Given the description of an element on the screen output the (x, y) to click on. 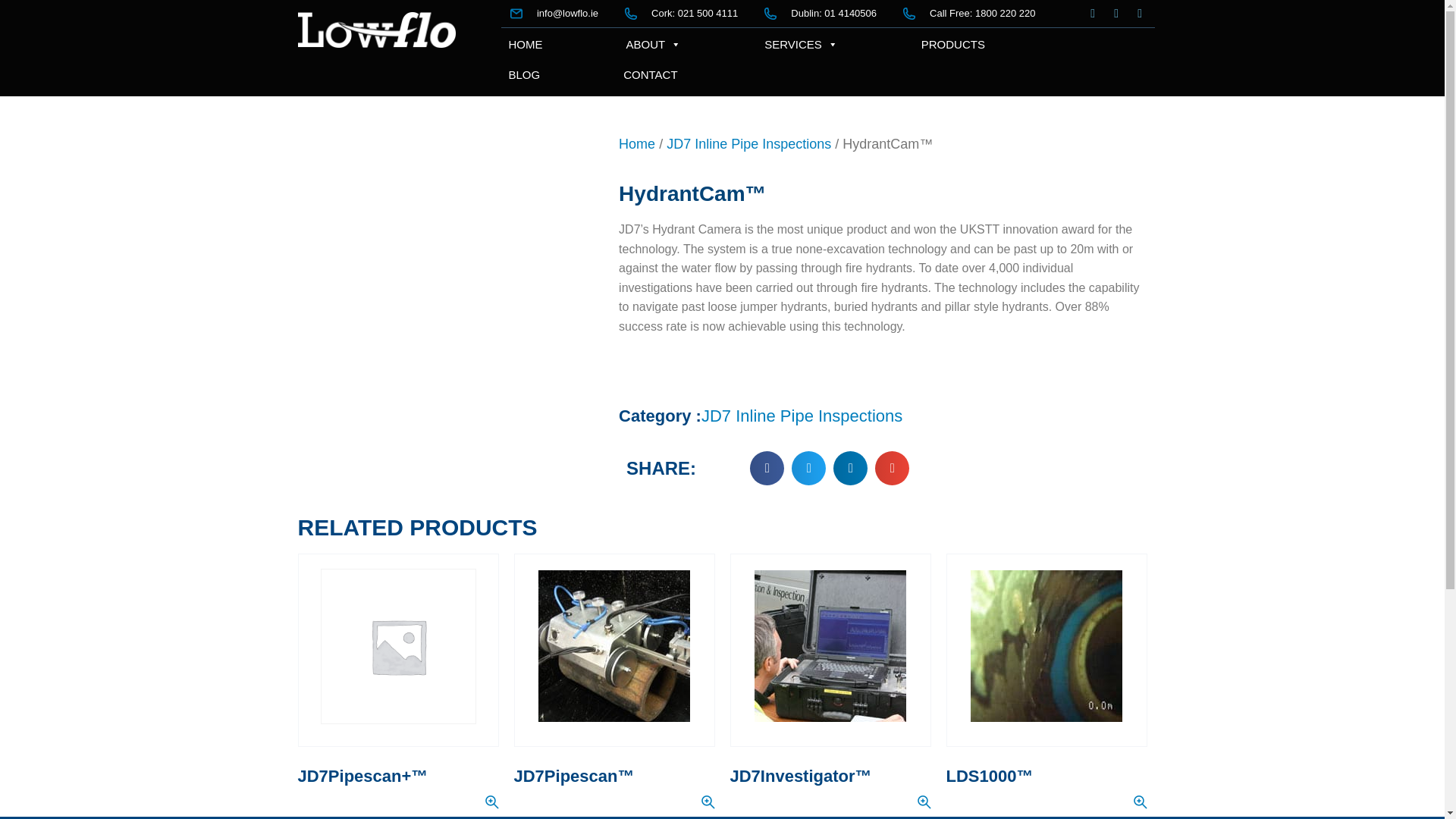
SERVICES (801, 42)
ABOUT (653, 42)
HOME (525, 42)
Dublin: 01 4140506 (820, 13)
Cork: 021 500 4111 (681, 13)
Call Free: 1800 220 220 (968, 13)
